Given the description of an element on the screen output the (x, y) to click on. 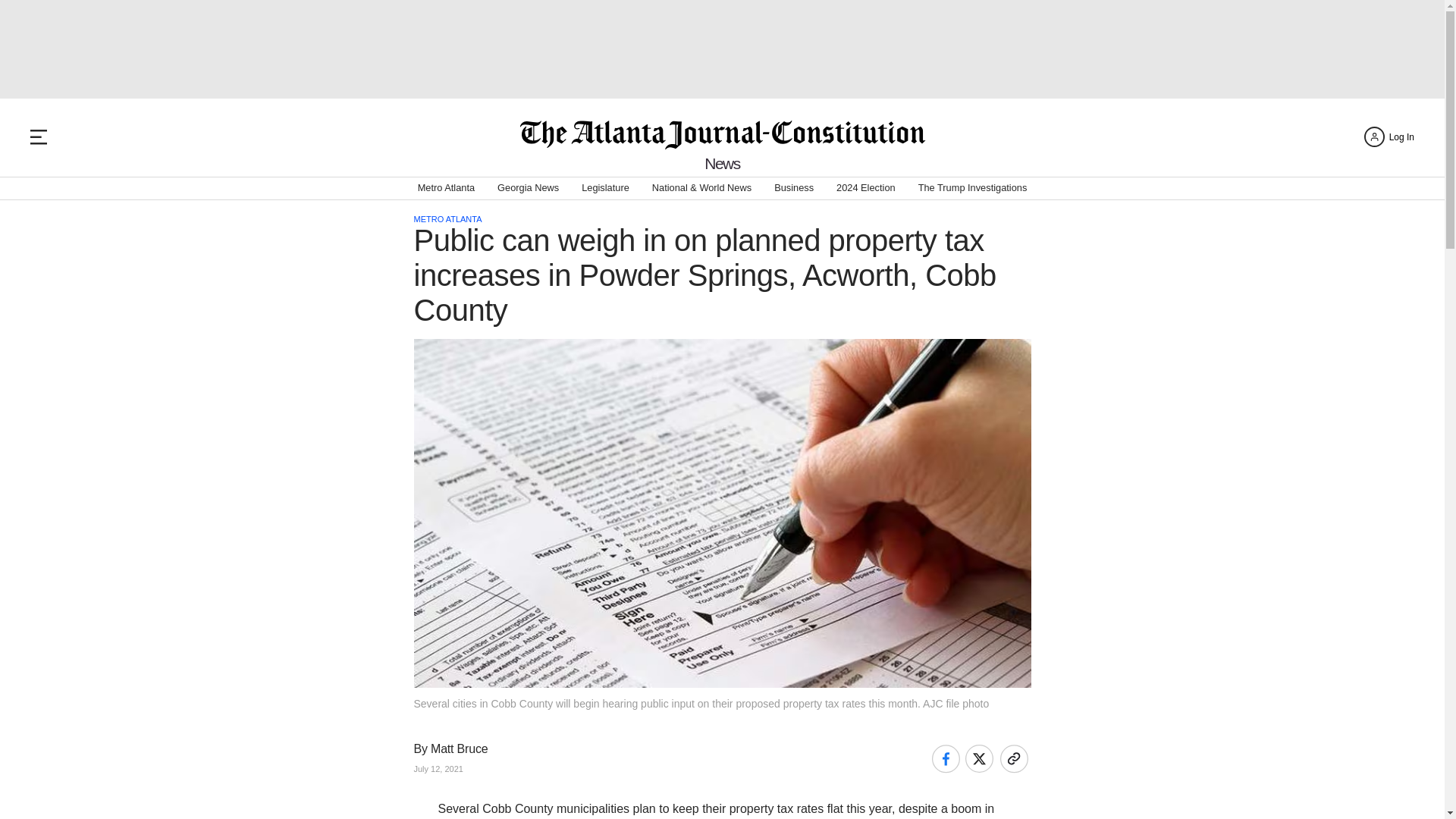
2024 Election (865, 188)
News (721, 163)
Legislature (604, 188)
Metro Atlanta (445, 188)
Business (793, 188)
The Trump Investigations (972, 188)
Georgia News (528, 188)
